Given the description of an element on the screen output the (x, y) to click on. 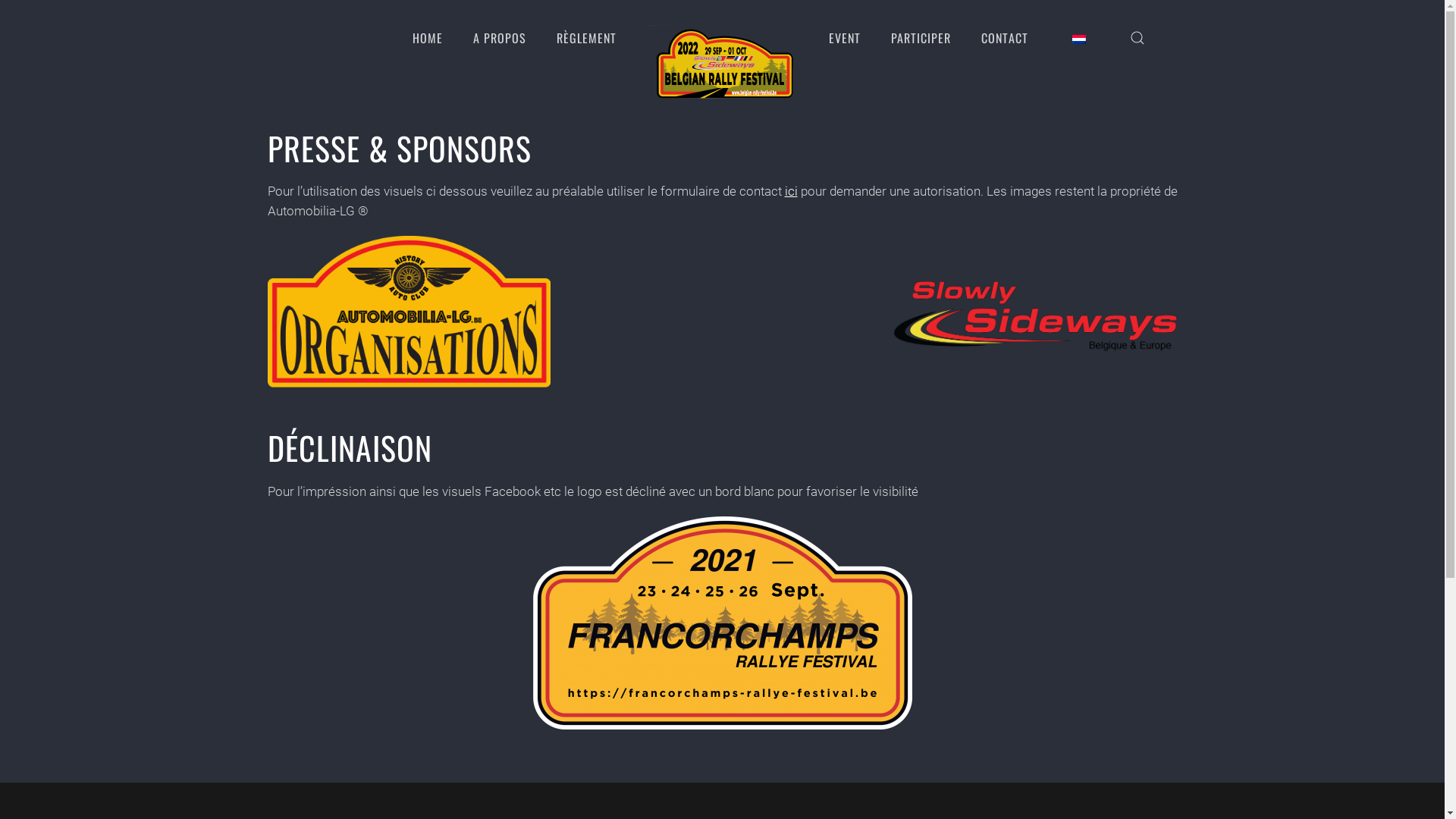
ici Element type: text (790, 190)
CONTACT Element type: text (1004, 37)
A PROPOS Element type: text (499, 37)
HOME Element type: text (427, 37)
EVENT Element type: text (843, 37)
PARTICIPER Element type: text (920, 37)
